Given the description of an element on the screen output the (x, y) to click on. 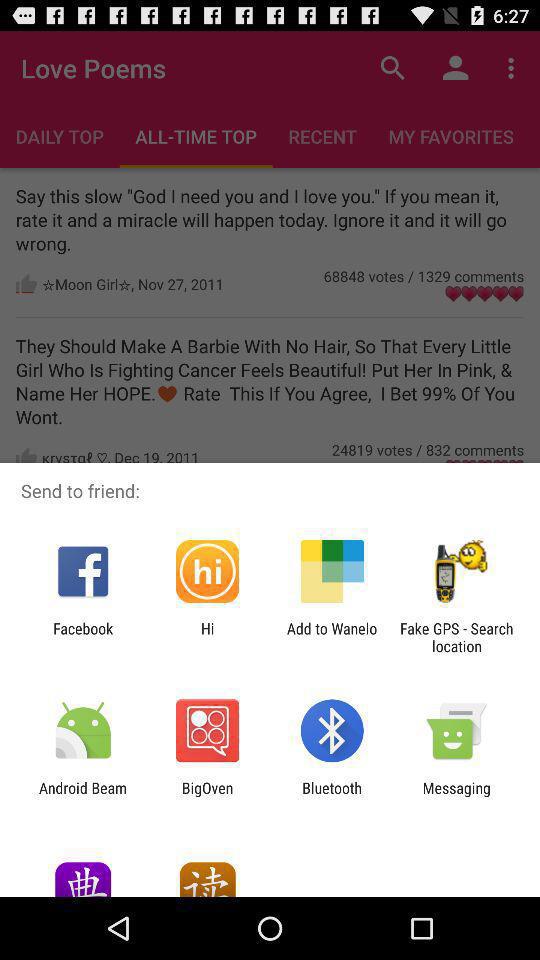
select the item next to facebook app (207, 637)
